Given the description of an element on the screen output the (x, y) to click on. 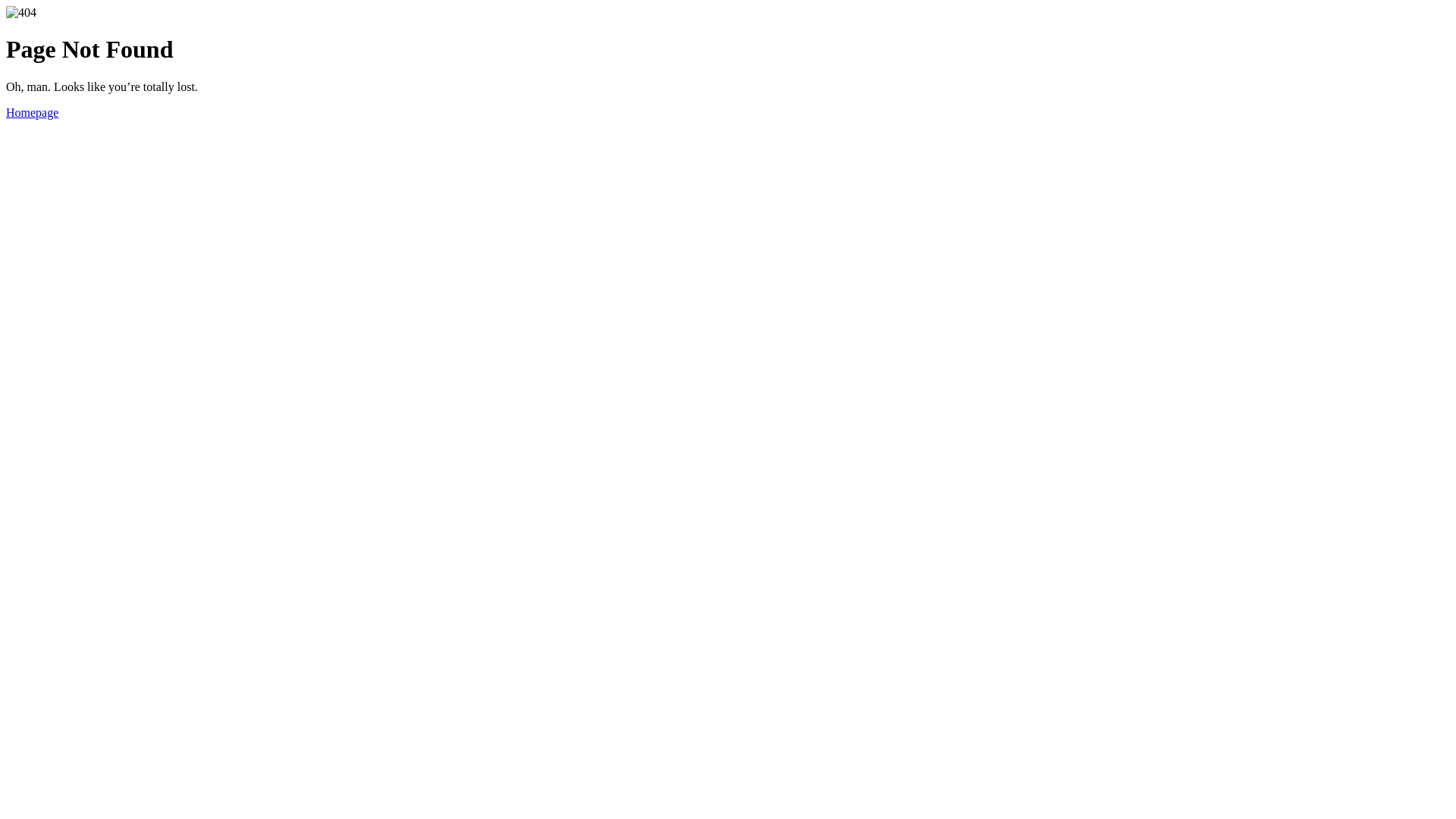
Homepage Element type: text (32, 112)
